Given the description of an element on the screen output the (x, y) to click on. 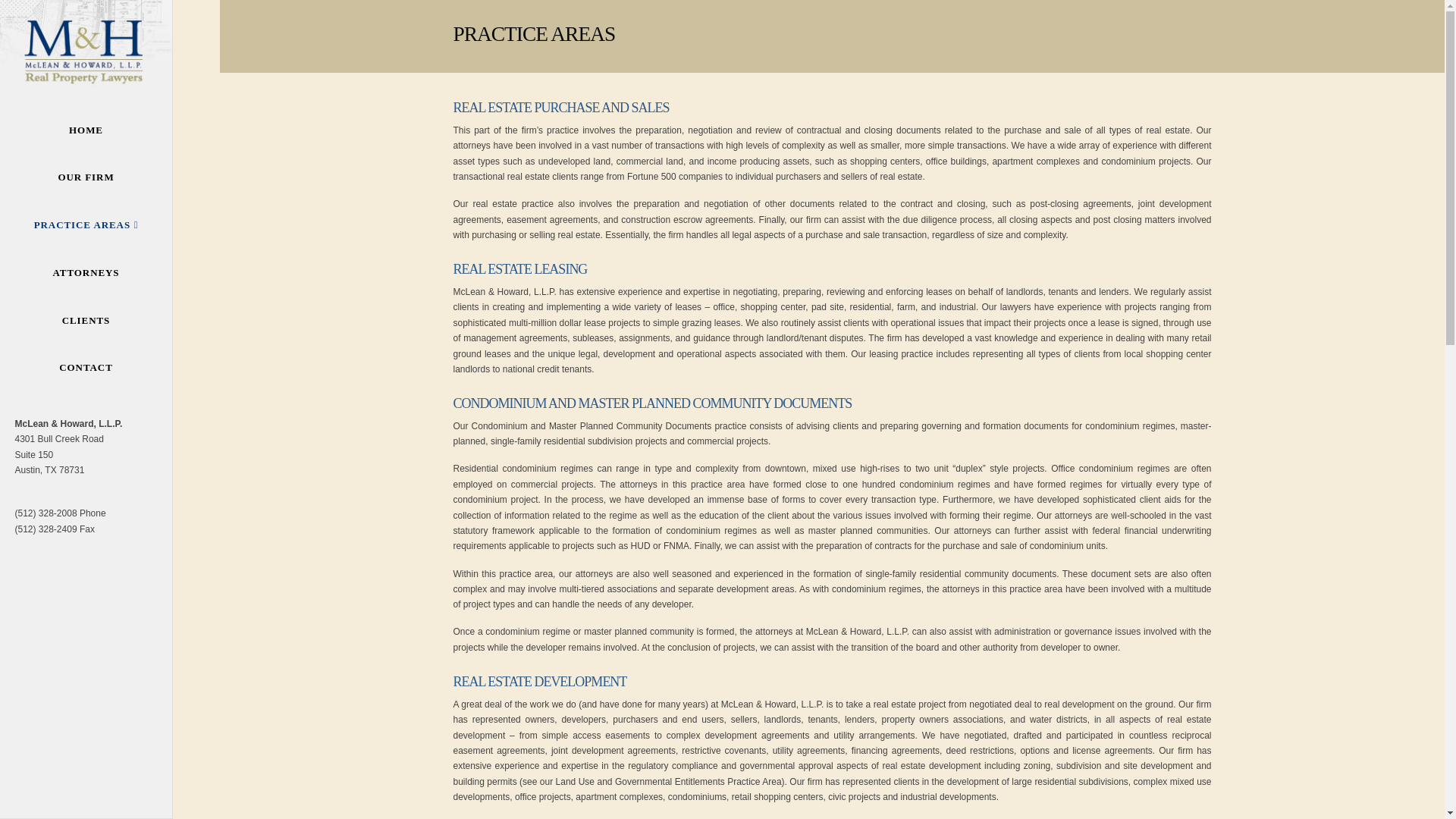
PRACTICE AREAS (85, 225)
CLIENTS (85, 319)
ATTORNEYS (85, 272)
OUR FIRM (85, 177)
HOME (85, 129)
CONTACT (85, 367)
